Given the description of an element on the screen output the (x, y) to click on. 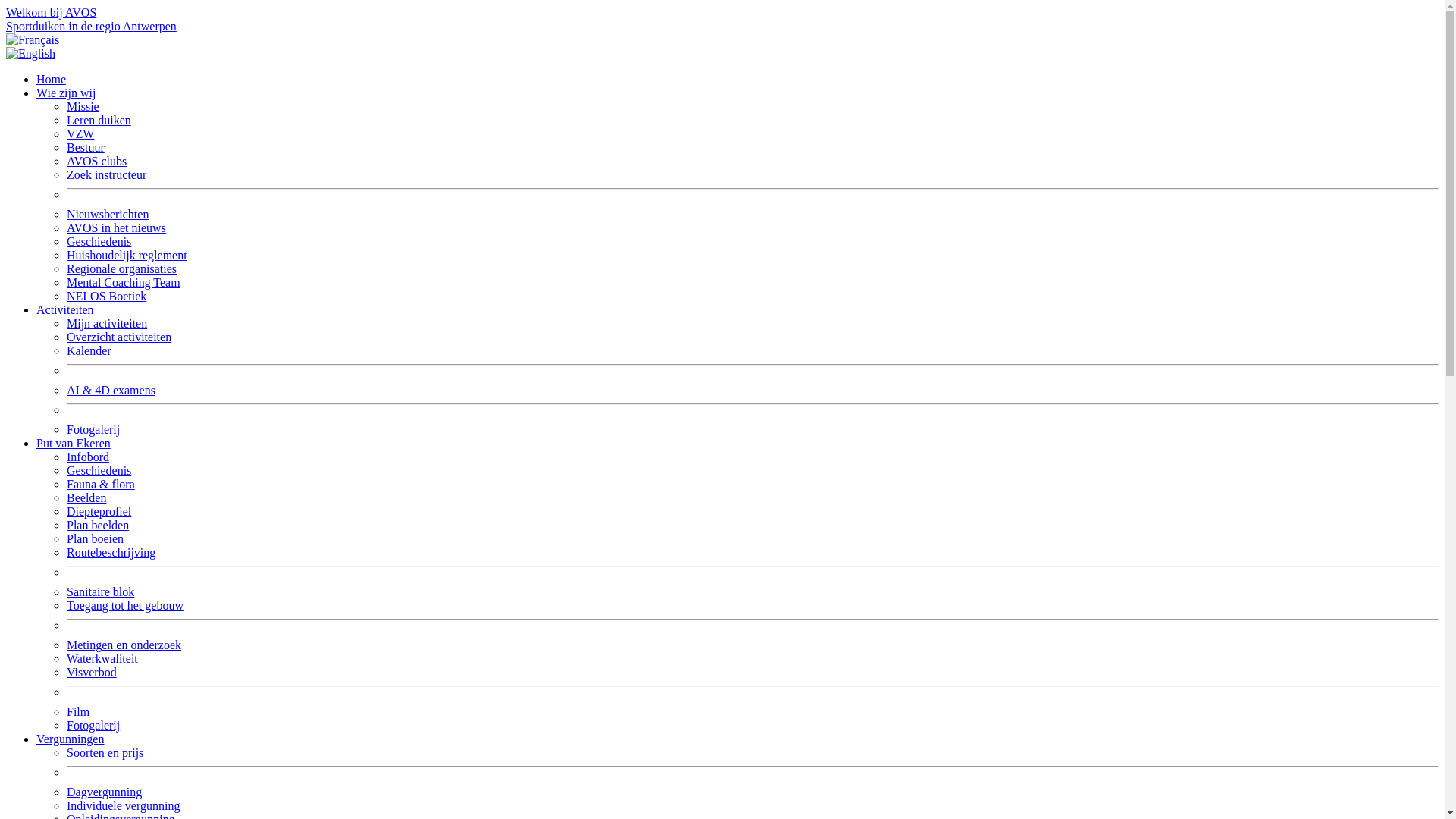
Soorten en prijs Element type: text (104, 752)
Geschiedenis Element type: text (98, 470)
AVOS in het nieuws Element type: text (116, 227)
Mental Coaching Team Element type: text (123, 282)
Diepteprofiel Element type: text (98, 511)
Fotogalerij Element type: text (92, 724)
Activiteiten Element type: text (65, 309)
Welkom bij AVOS Element type: text (51, 12)
AVOS clubs Element type: text (96, 160)
Sanitaire blok Element type: text (100, 591)
Visverbod Element type: text (91, 671)
Plan boeien Element type: text (94, 538)
Routebeschrijving Element type: text (110, 552)
Leren duiken Element type: text (98, 119)
Fauna & flora Element type: text (100, 483)
Infobord Element type: text (87, 456)
Individuele vergunning Element type: text (122, 805)
Geschiedenis Element type: text (98, 241)
Home Element type: text (50, 78)
Zoek instructeur Element type: text (106, 174)
Regionale organisaties Element type: text (121, 268)
Nieuwsberichten Element type: text (107, 213)
NELOS Boetiek Element type: text (106, 295)
Film Element type: text (77, 711)
Dagvergunning Element type: text (103, 791)
Fotogalerij Element type: text (92, 429)
Bestuur Element type: text (85, 147)
Wie zijn wij Element type: text (65, 92)
Sportduiken in de regio Antwerpen Element type: text (91, 25)
Vergunningen Element type: text (69, 738)
Put van Ekeren Element type: text (73, 442)
Missie Element type: text (82, 106)
Huishoudelijk reglement Element type: text (126, 254)
Beelden Element type: text (86, 497)
VZW Element type: text (80, 133)
Waterkwaliteit Element type: text (102, 658)
Mijn activiteiten Element type: text (106, 322)
Plan beelden Element type: text (97, 524)
Kalender Element type: text (88, 350)
AI & 4D examens Element type: text (110, 389)
Toegang tot het gebouw Element type: text (124, 605)
Metingen en onderzoek Element type: text (123, 644)
Overzicht activiteiten Element type: text (118, 336)
